Given the description of an element on the screen output the (x, y) to click on. 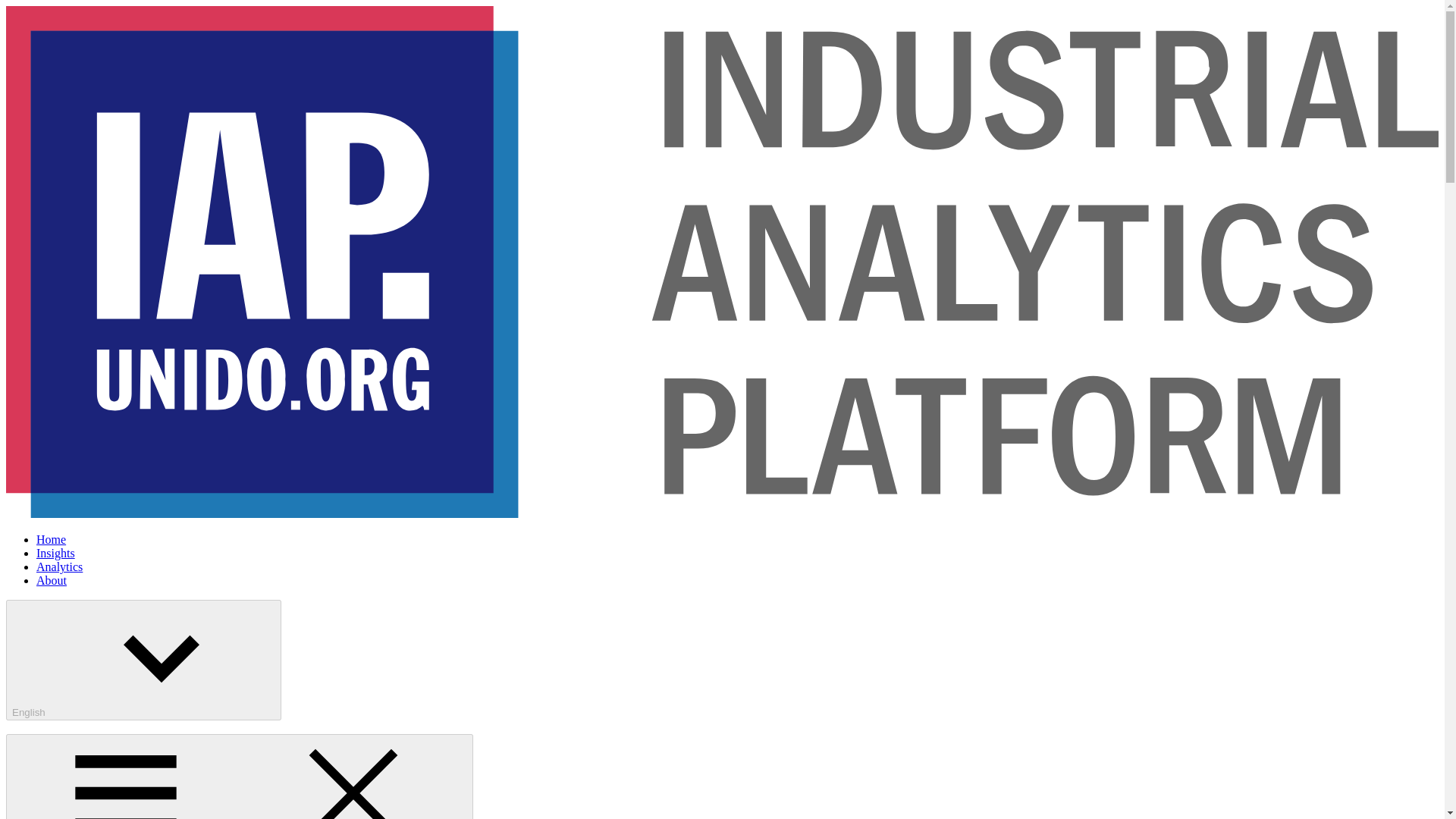
English (143, 659)
Home (50, 539)
Analytics (59, 566)
About (51, 580)
Insights (55, 553)
